Given the description of an element on the screen output the (x, y) to click on. 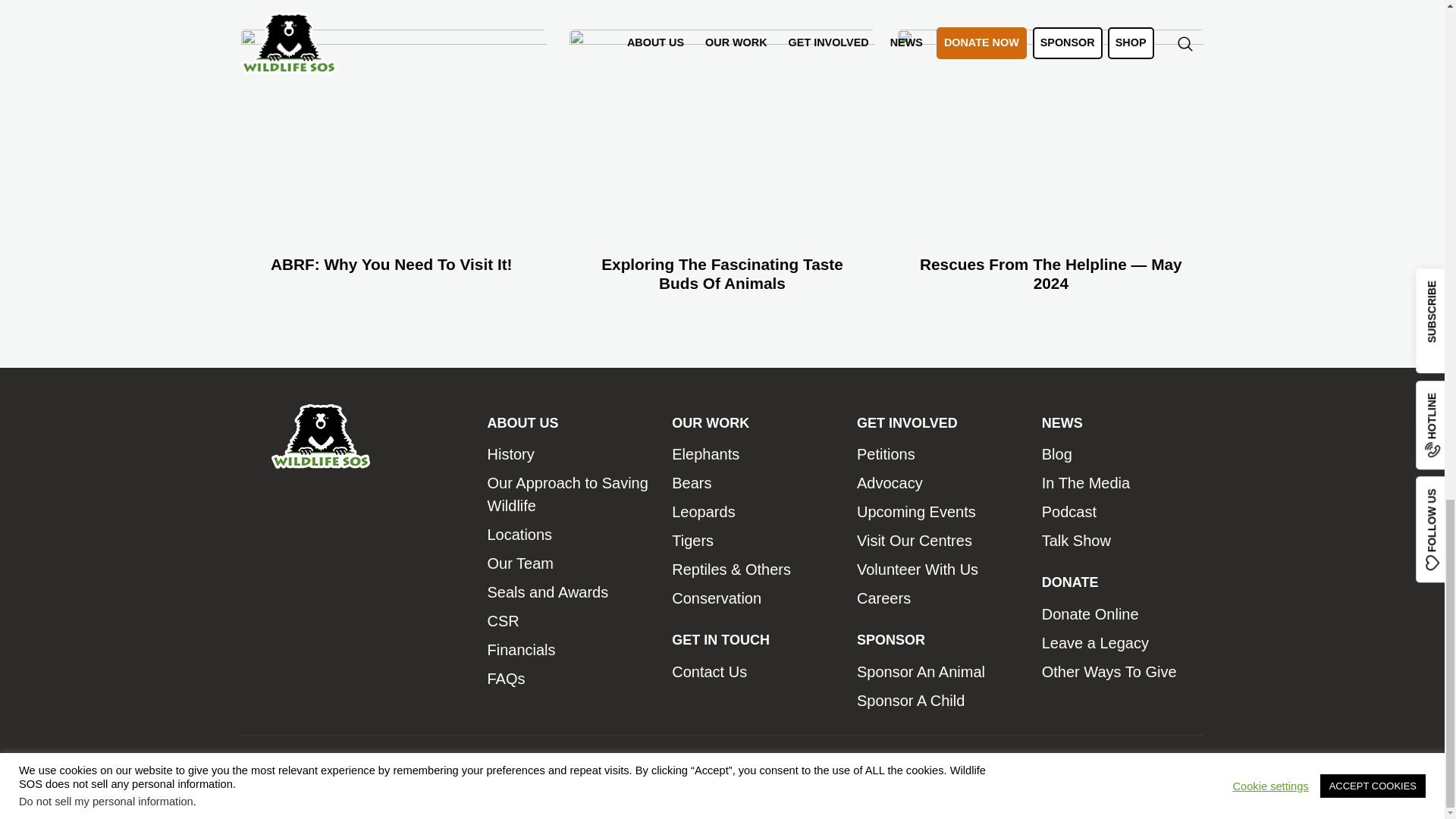
Linkedin (326, 766)
Youtube (362, 766)
Instagram (398, 766)
Facebook (254, 766)
Twitter (290, 766)
